Given the description of an element on the screen output the (x, y) to click on. 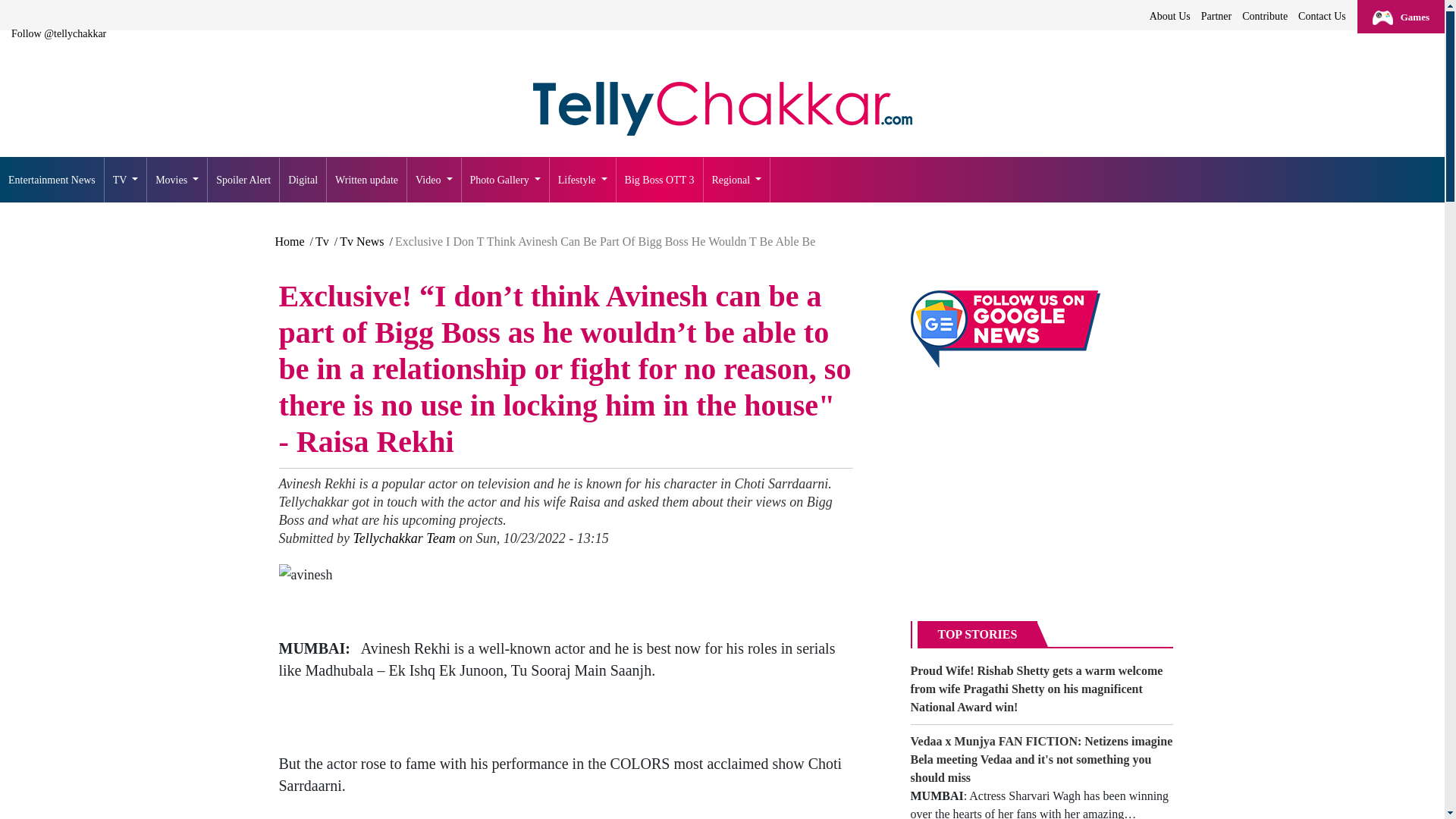
Movies (177, 180)
TV (125, 180)
Spoiler Alert (243, 180)
Contact Us (1321, 16)
Digital (302, 180)
Tellychakkar Google News Follow (1004, 328)
Photo Gallery (505, 180)
Games (1400, 17)
About Us (1169, 16)
